Given the description of an element on the screen output the (x, y) to click on. 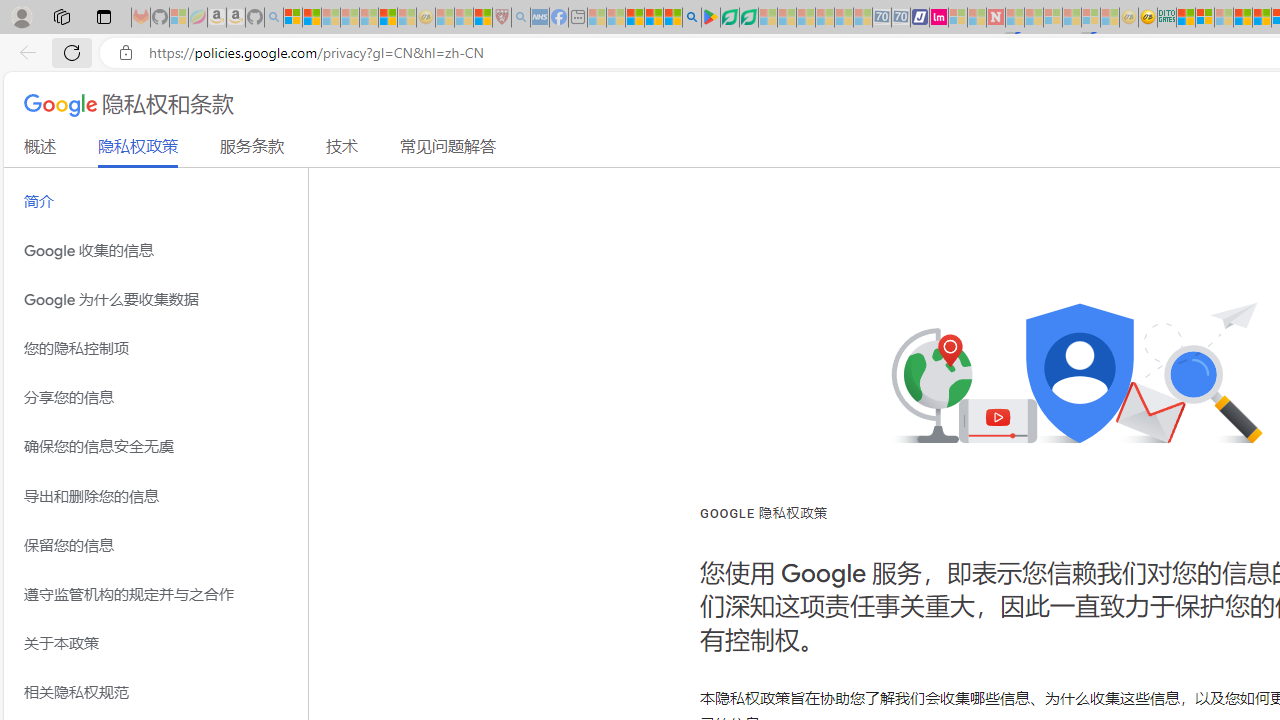
Jobs - lastminute.com Investor Portal (939, 17)
Kinda Frugal - MSN (1262, 17)
Local - MSN (482, 17)
Expert Portfolios (1242, 17)
